Given the description of an element on the screen output the (x, y) to click on. 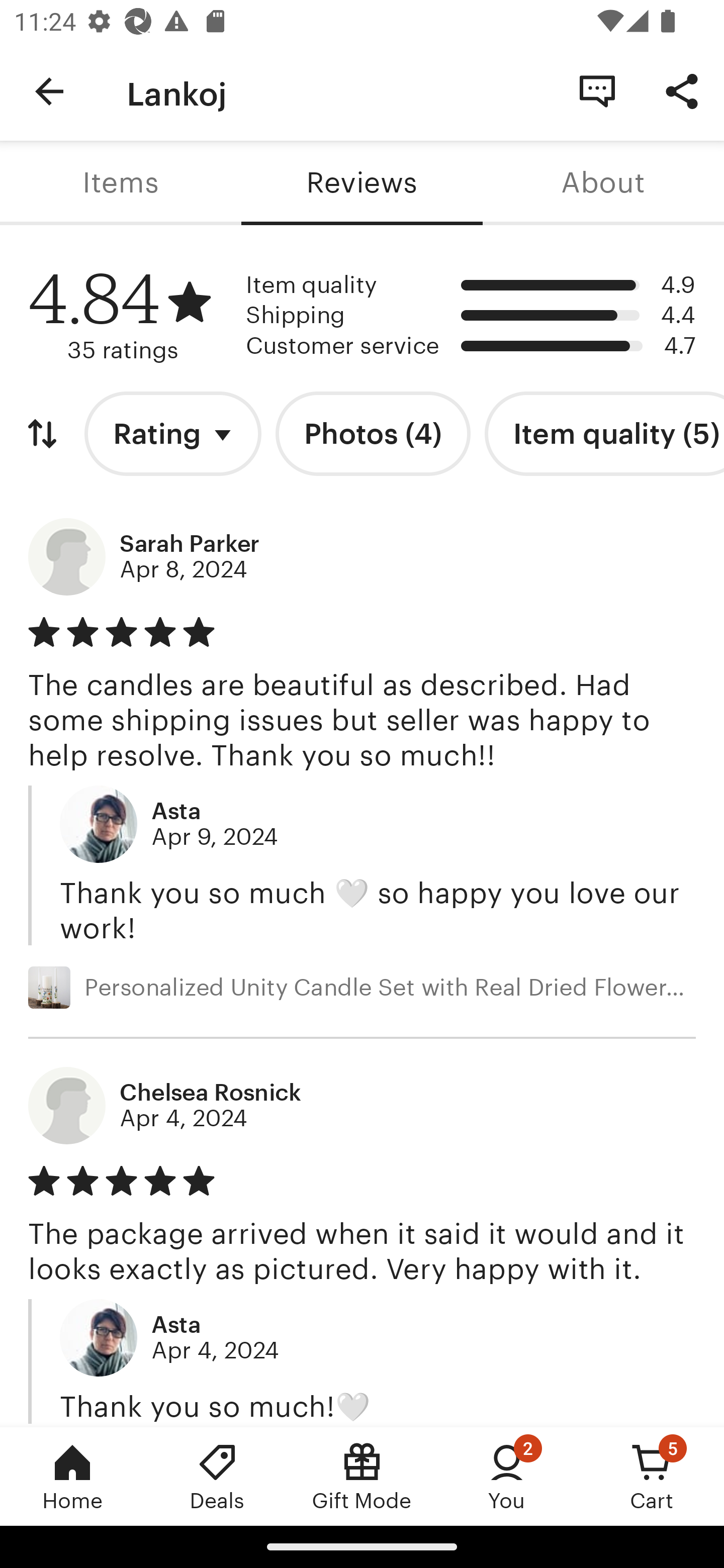
Navigate up (49, 91)
Contact Shop (597, 90)
Share (681, 90)
Items (120, 183)
About (603, 183)
Rating (172, 434)
Photos (4) (372, 434)
Item quality (5) (604, 434)
Deals (216, 1475)
Gift Mode (361, 1475)
You, 2 new notifications You (506, 1475)
Cart, 5 new notifications Cart (651, 1475)
